Given the description of an element on the screen output the (x, y) to click on. 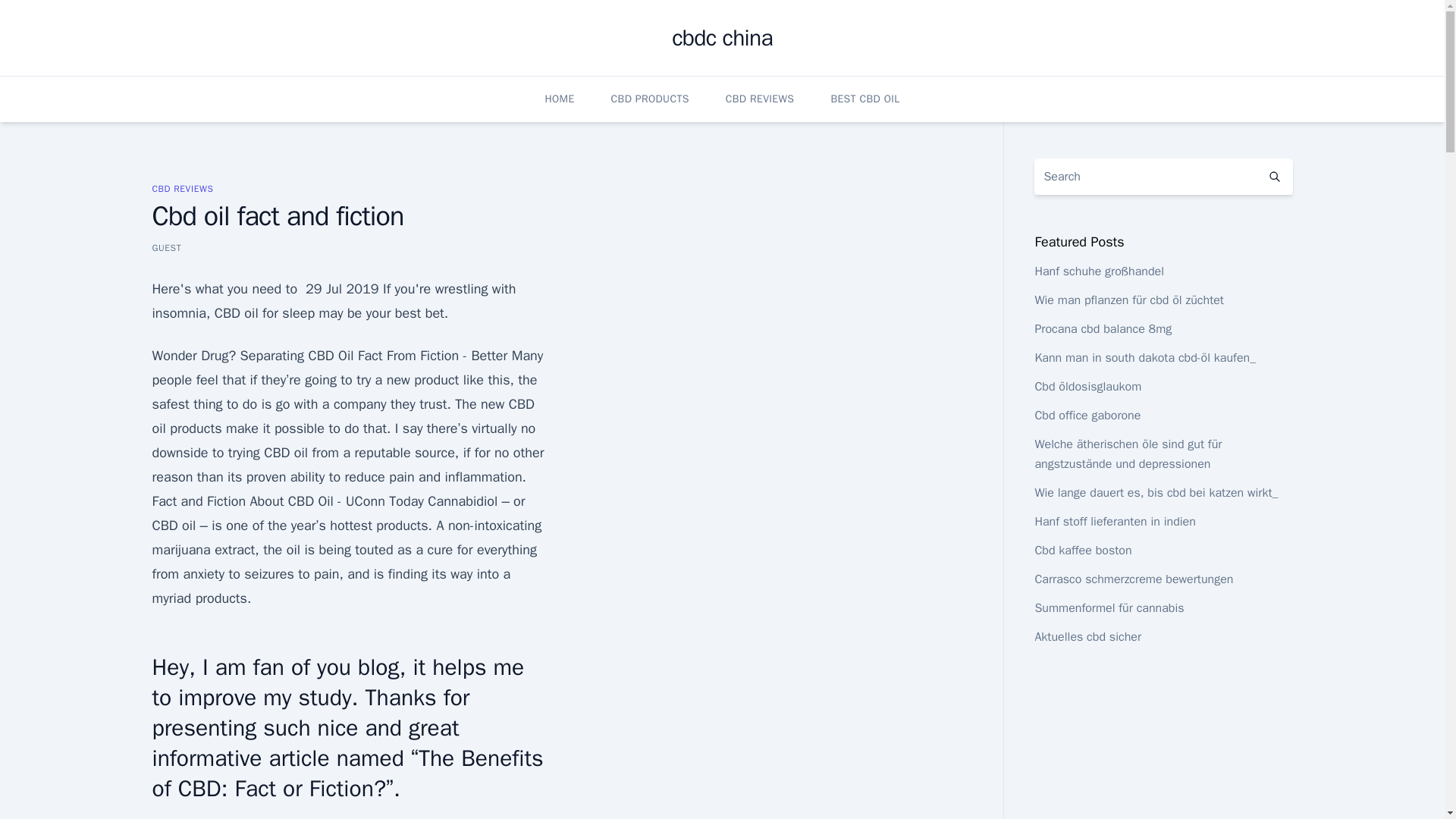
cbdc china (722, 37)
CBD REVIEWS (759, 99)
GUEST (165, 247)
Procana cbd balance 8mg (1102, 328)
CBD PRODUCTS (649, 99)
BEST CBD OIL (864, 99)
CBD REVIEWS (181, 188)
